Given the description of an element on the screen output the (x, y) to click on. 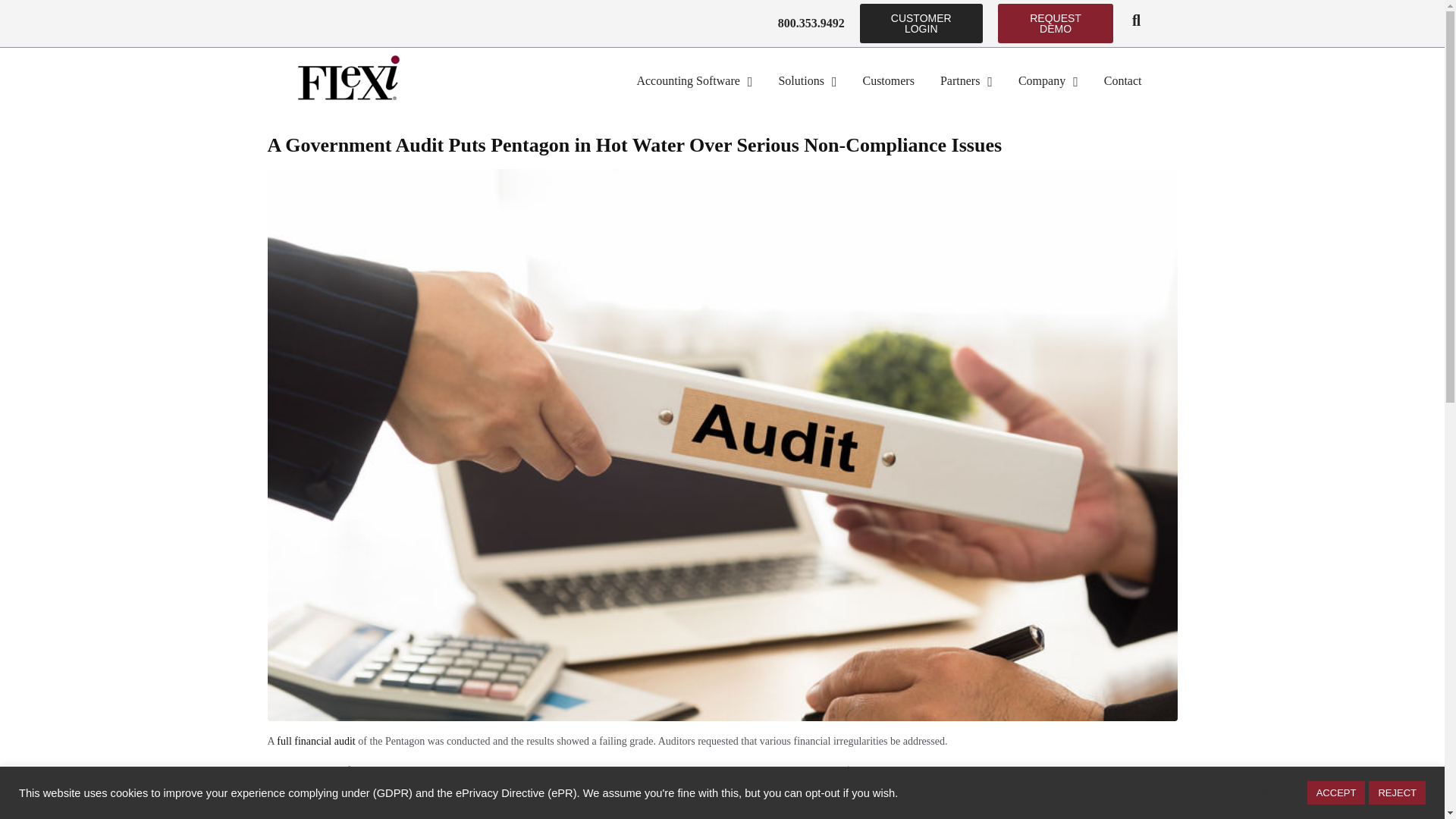
Accounting Software (694, 80)
800.353.9492 (810, 22)
Partners (966, 80)
Solutions (807, 80)
CUSTOMER LOGIN (921, 23)
REQUEST DEMO (1055, 23)
Customers (887, 80)
